Given the description of an element on the screen output the (x, y) to click on. 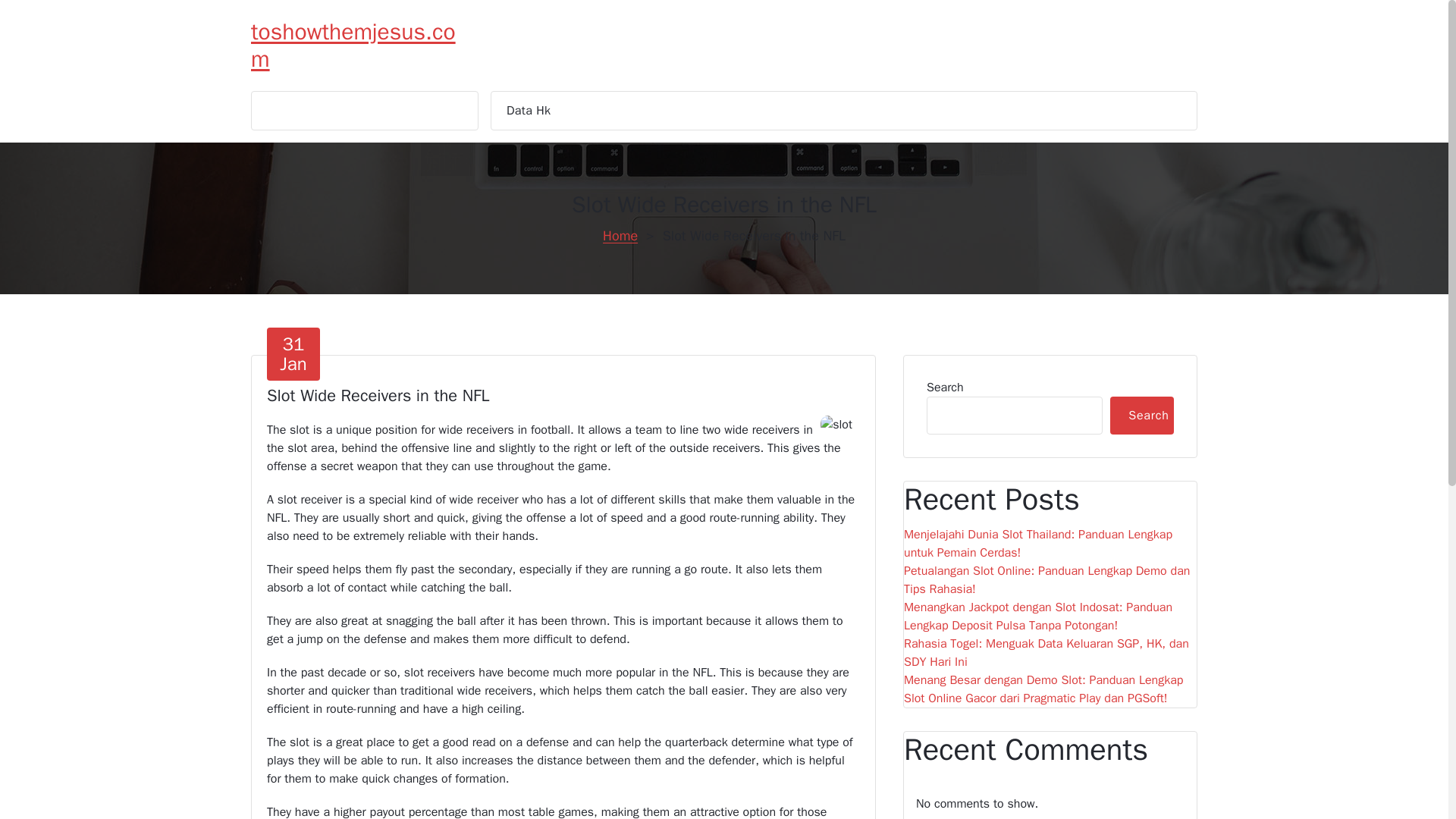
Data Hk (528, 110)
toshowthemjesus.com (362, 45)
Search (1141, 415)
Home (619, 235)
